Given the description of an element on the screen output the (x, y) to click on. 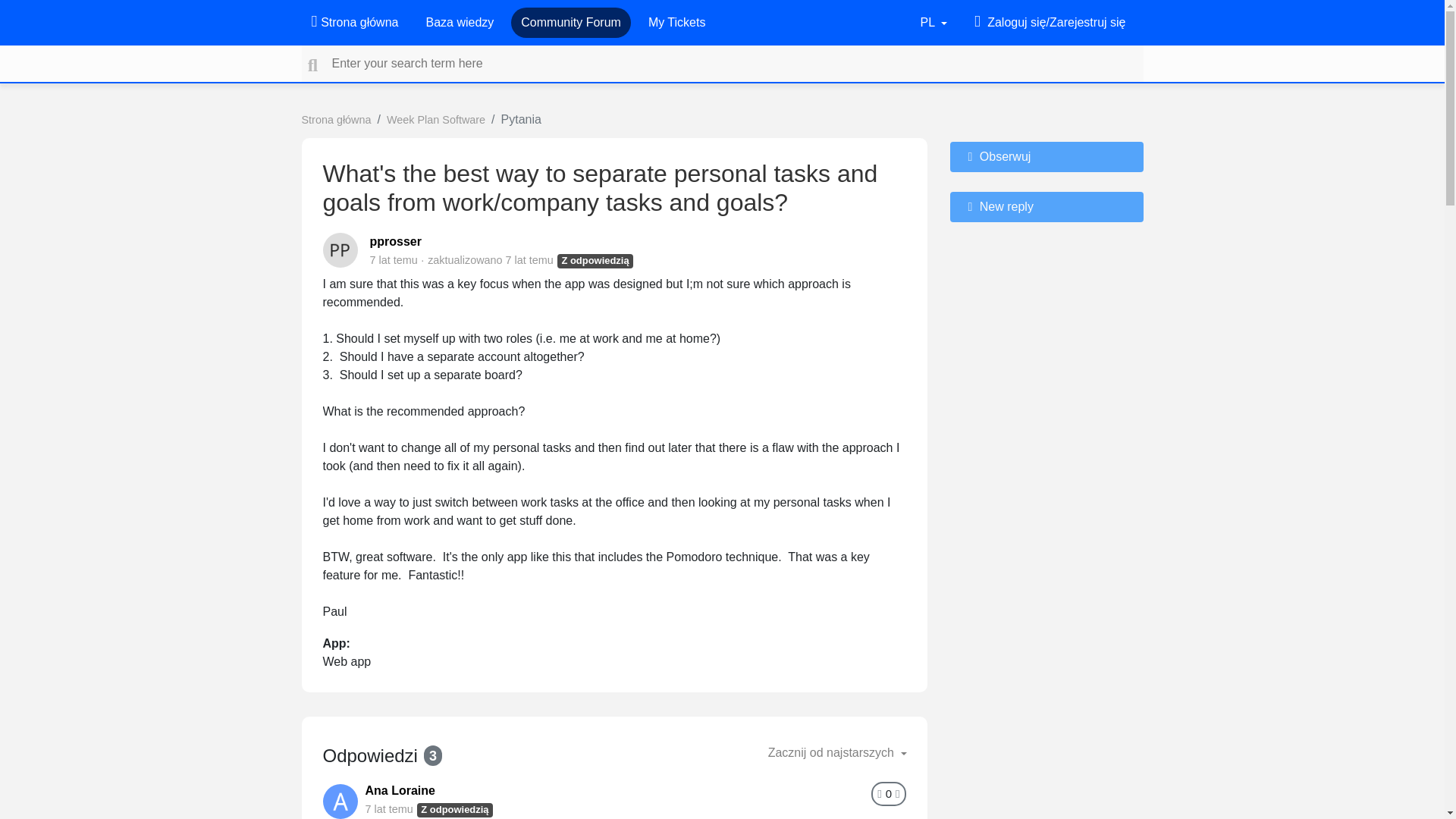
Ana Loraine (400, 789)
PL (933, 22)
pprosser (395, 241)
Obserwuj (1045, 156)
Zacznij od najstarszych (837, 752)
My Tickets (676, 22)
Baza wiedzy (459, 22)
11 grudnia 2017 15:50 (393, 259)
14 grudnia 2017 10:09 (529, 259)
Week Plan Software (435, 119)
12 grudnia 2017 10:31 (389, 808)
New reply (1045, 206)
Community Forum (571, 22)
